Given the description of an element on the screen output the (x, y) to click on. 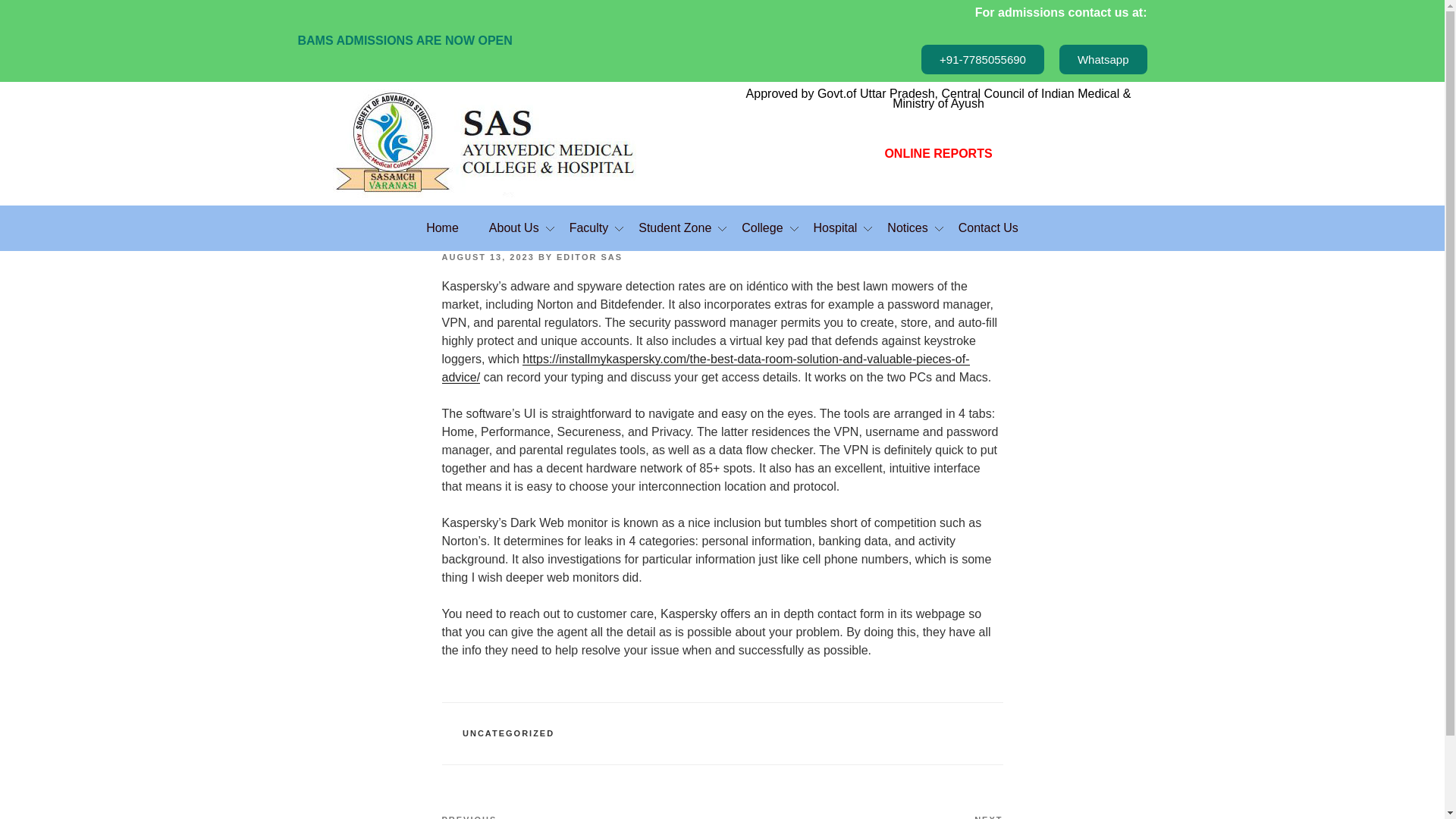
Home (442, 227)
About Us (514, 227)
Whatsapp (1103, 59)
ONLINE REPORTS (937, 153)
Student Zone (674, 227)
Faculty (589, 227)
